Given the description of an element on the screen output the (x, y) to click on. 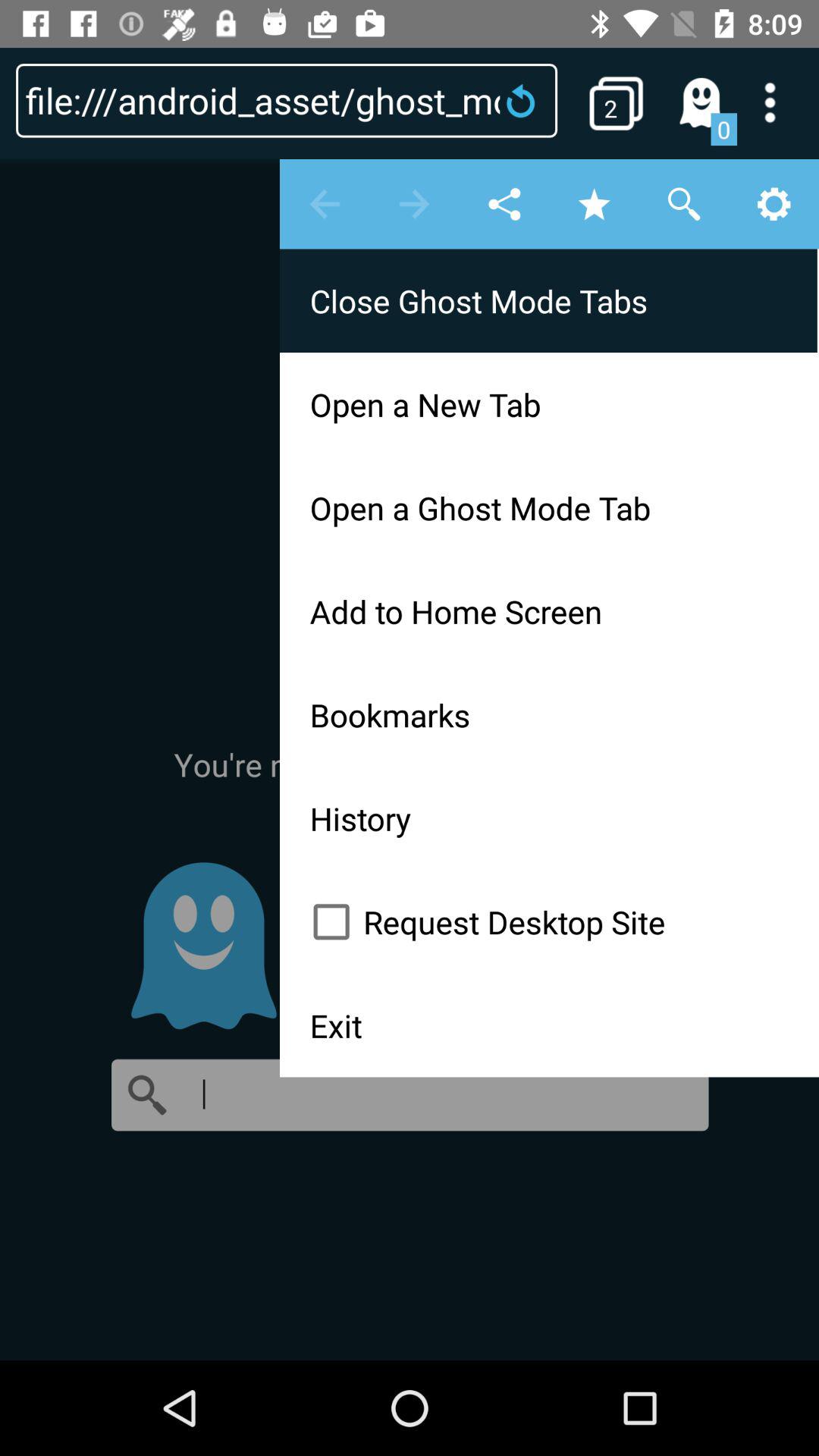
jump to the file android_asset ghost_mode icon (286, 100)
